Given the description of an element on the screen output the (x, y) to click on. 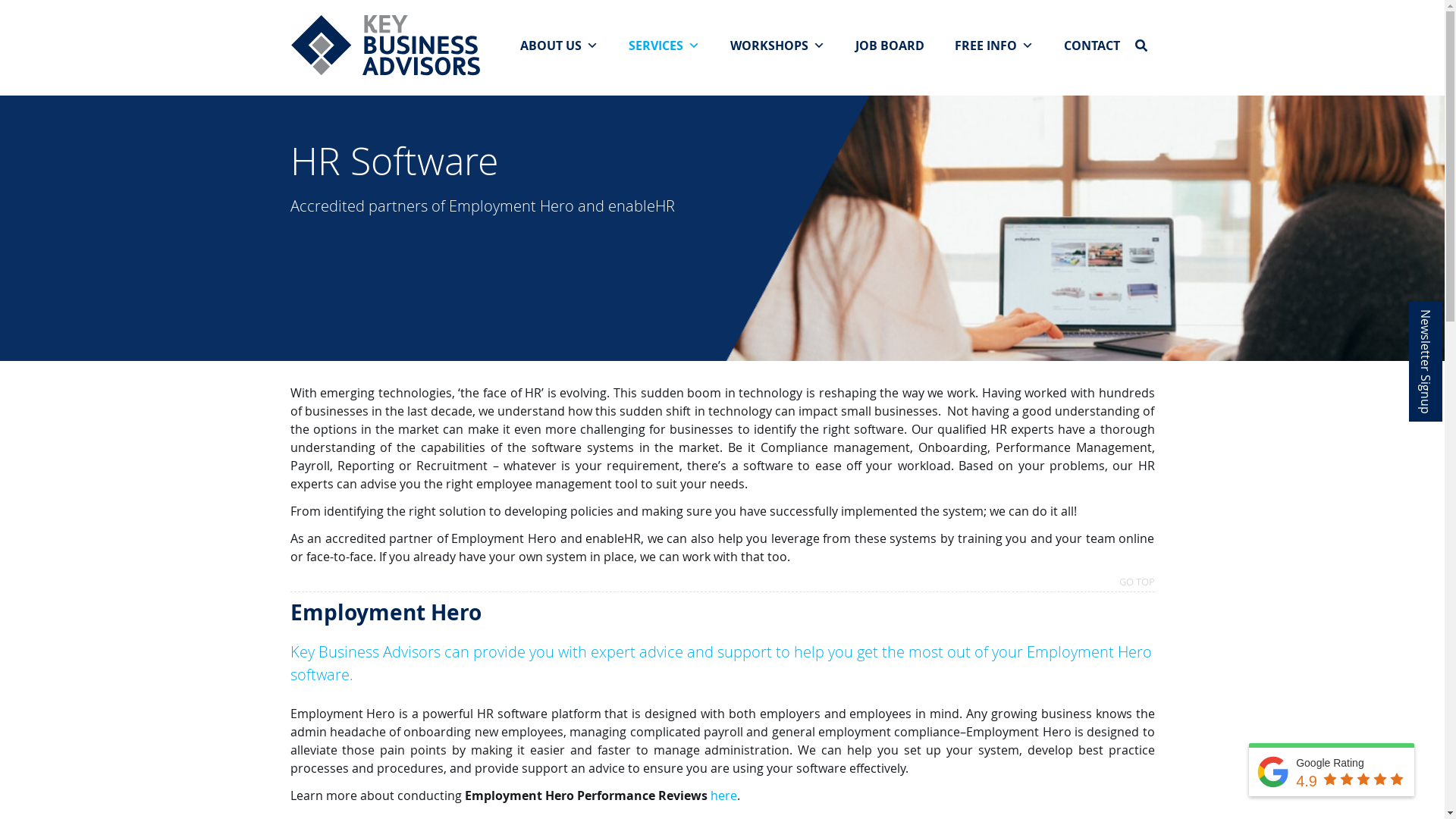
JOB BOARD Element type: text (889, 45)
CONTACT Element type: text (1091, 45)
FREE INFO Element type: text (993, 45)
here Element type: text (722, 795)
GO TOP Element type: text (1136, 584)
WORKSHOPS Element type: text (776, 45)
ABOUT US Element type: text (559, 45)
SERVICES Element type: text (663, 45)
